Given the description of an element on the screen output the (x, y) to click on. 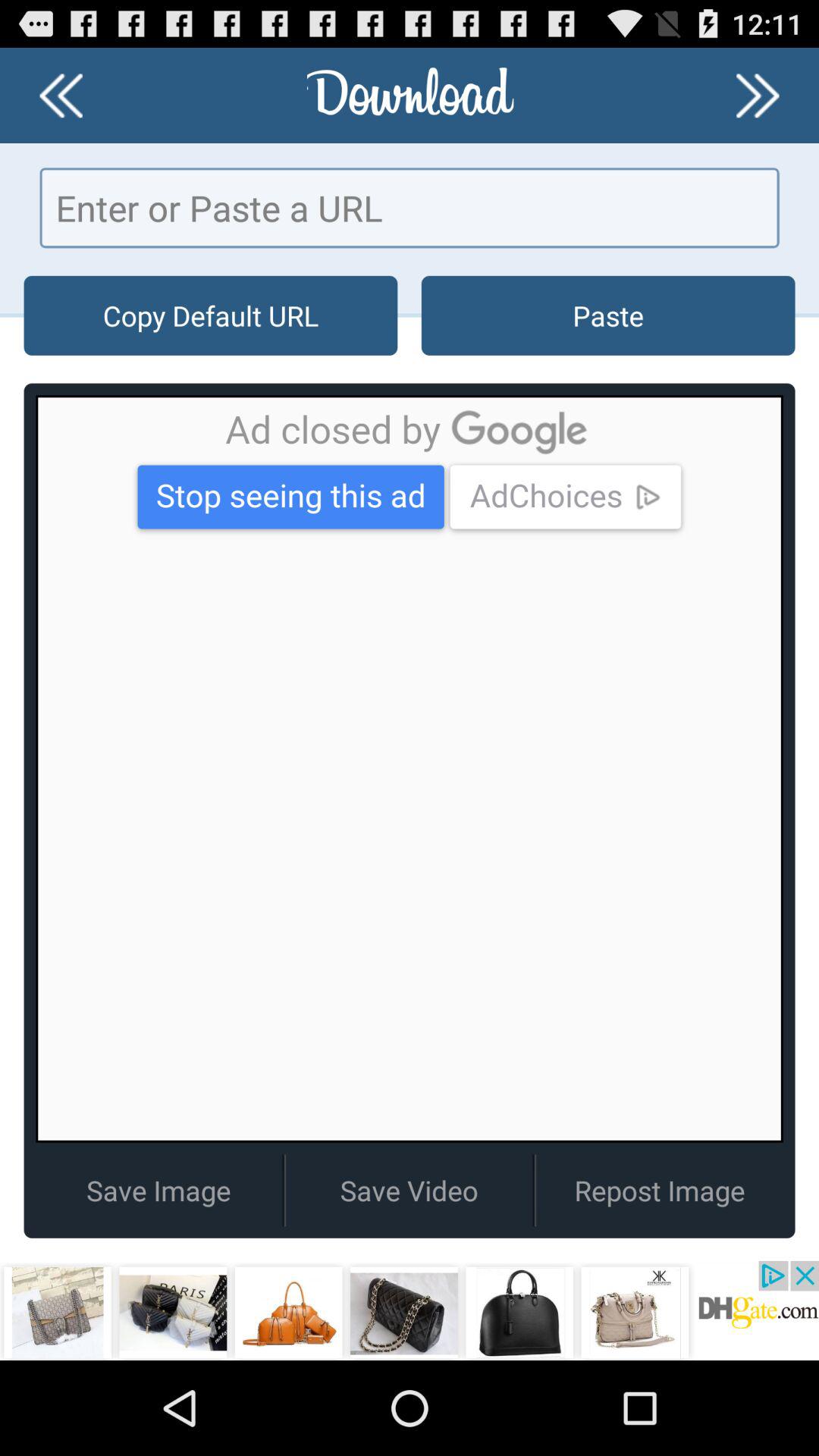
search the information (409, 207)
